Given the description of an element on the screen output the (x, y) to click on. 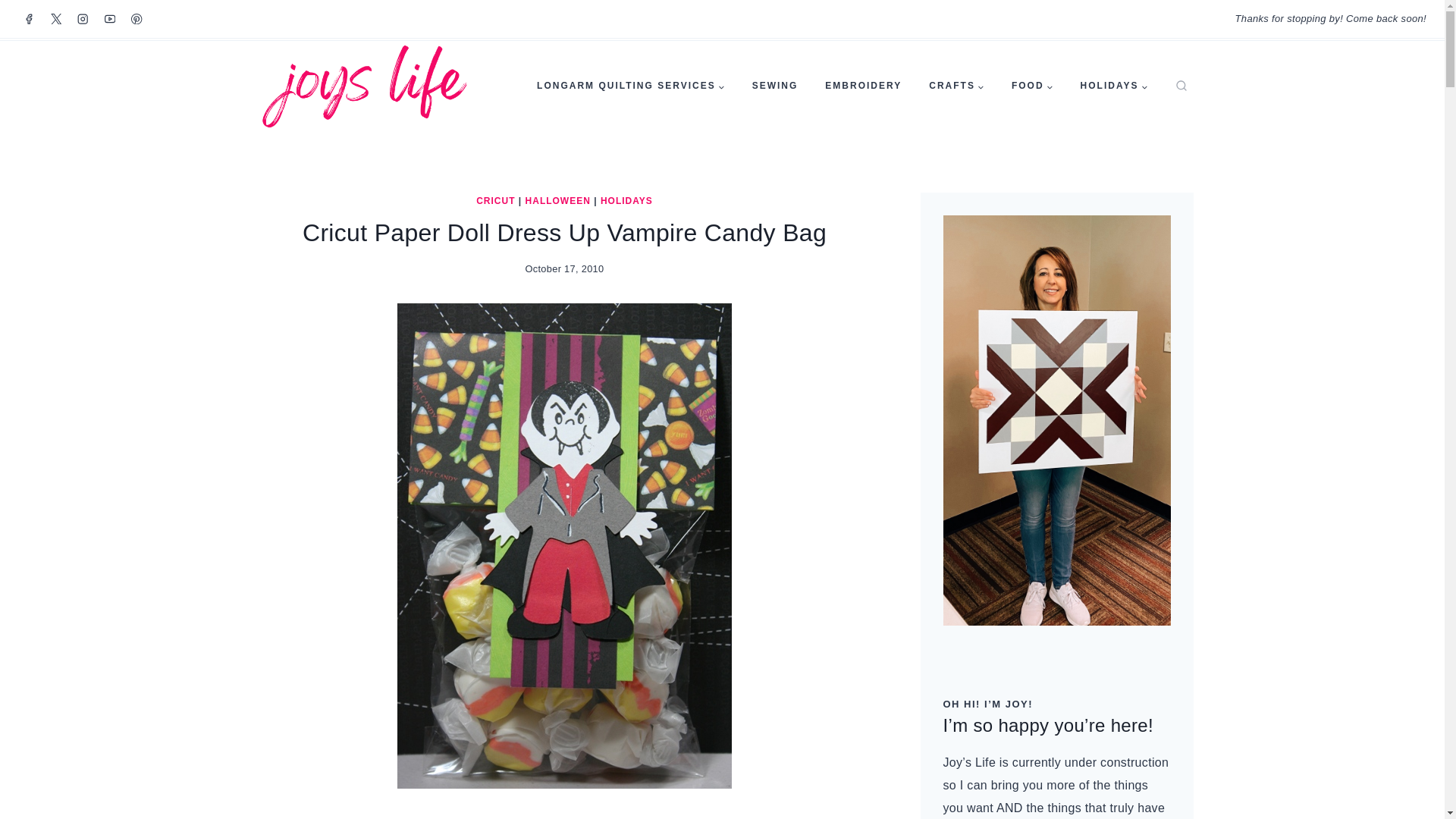
SEWING (775, 85)
HOLIDAYS (1114, 85)
CRAFTS (956, 85)
FOOD (1032, 85)
CRICUT (495, 200)
EMBROIDERY (862, 85)
LONGARM QUILTING SERVICES (630, 85)
